Given the description of an element on the screen output the (x, y) to click on. 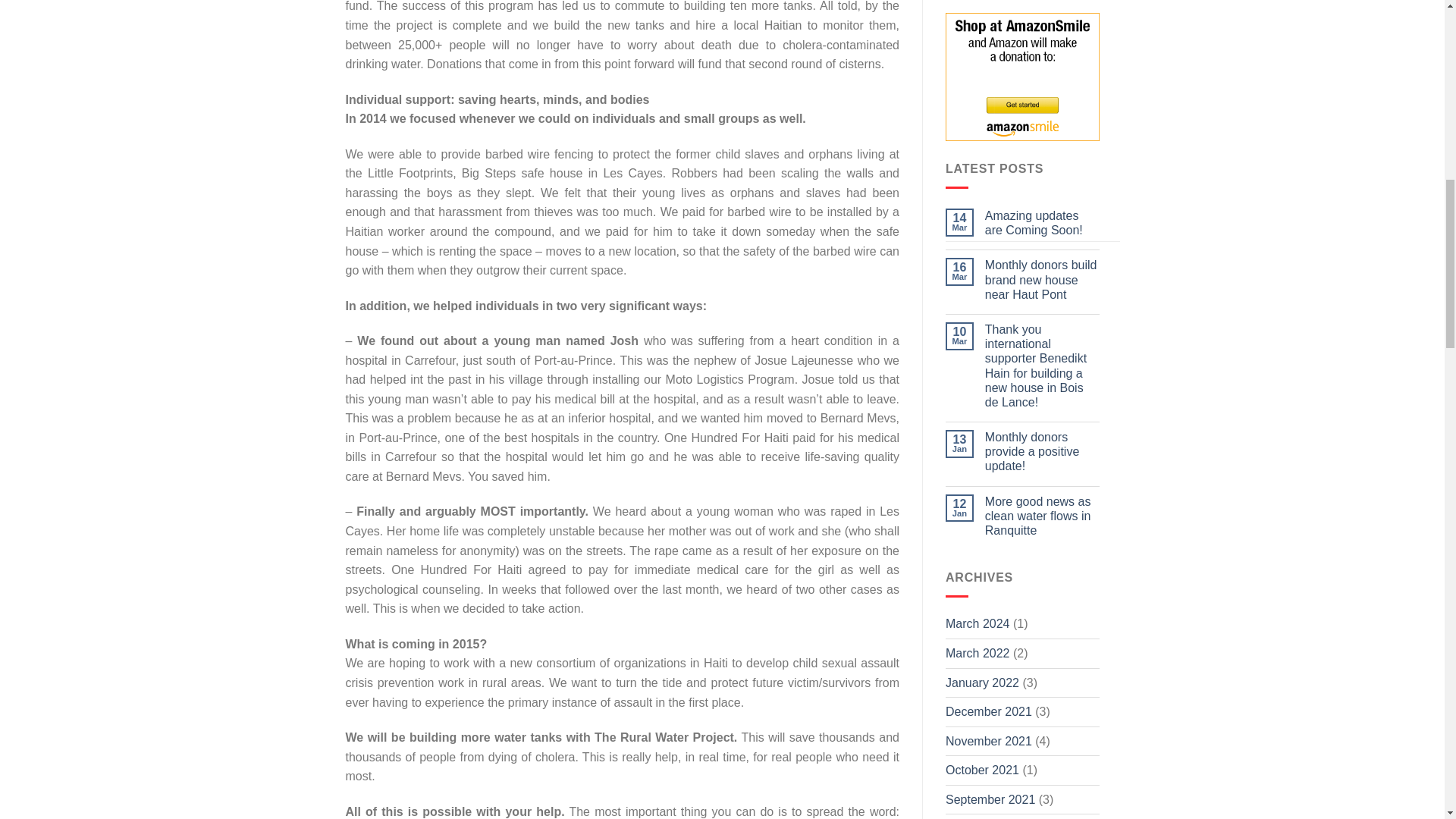
Monthly donors build brand new house near Haut Pont (1042, 279)
More good news as clean water flows in Ranquitte (1042, 516)
Amazing updates are Coming Soon! (1042, 222)
Monthly donors provide a positive update! (1042, 451)
